Given the description of an element on the screen output the (x, y) to click on. 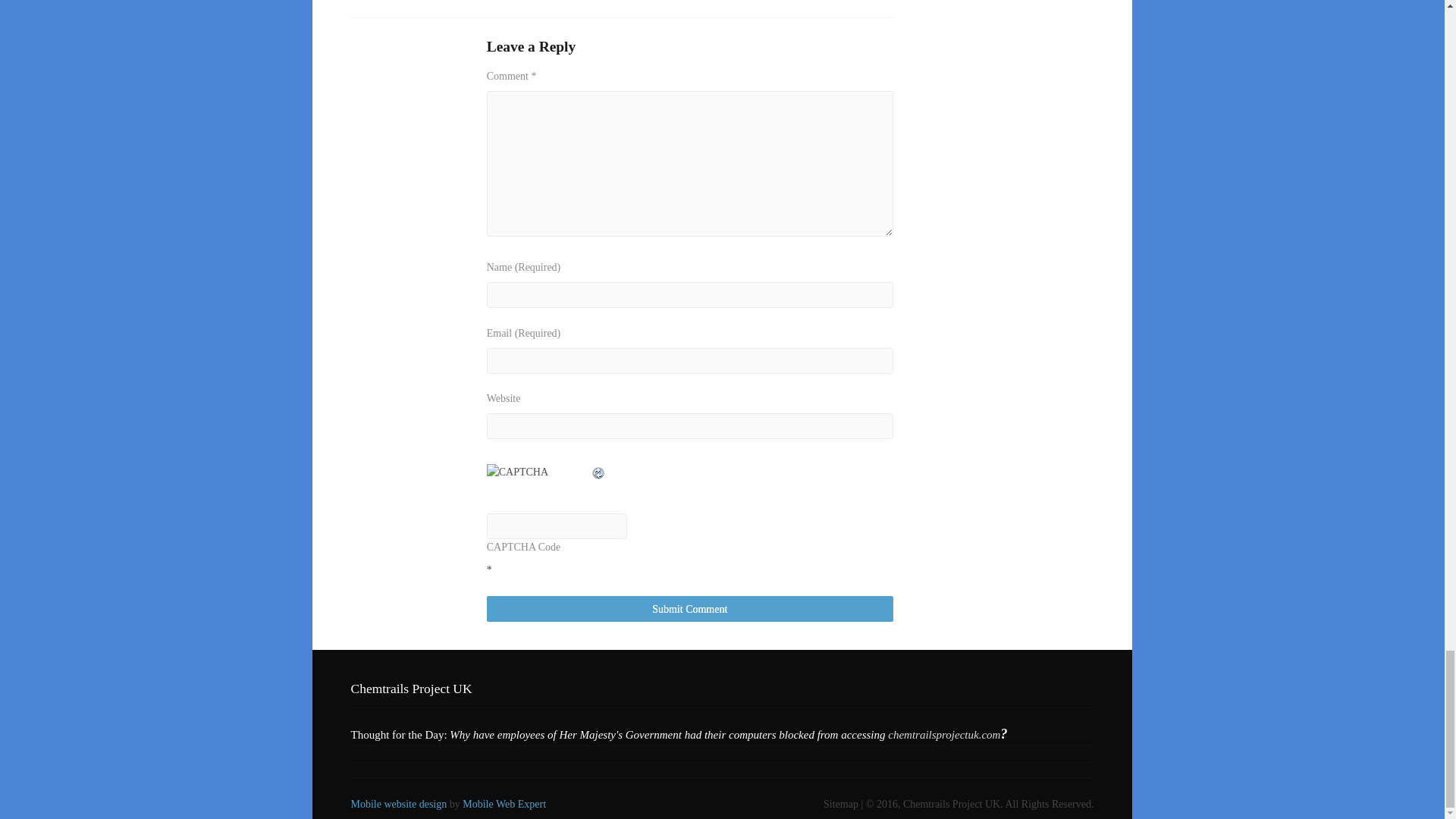
Submit Comment (689, 609)
CAPTCHA (538, 480)
Refresh (599, 471)
